Given the description of an element on the screen output the (x, y) to click on. 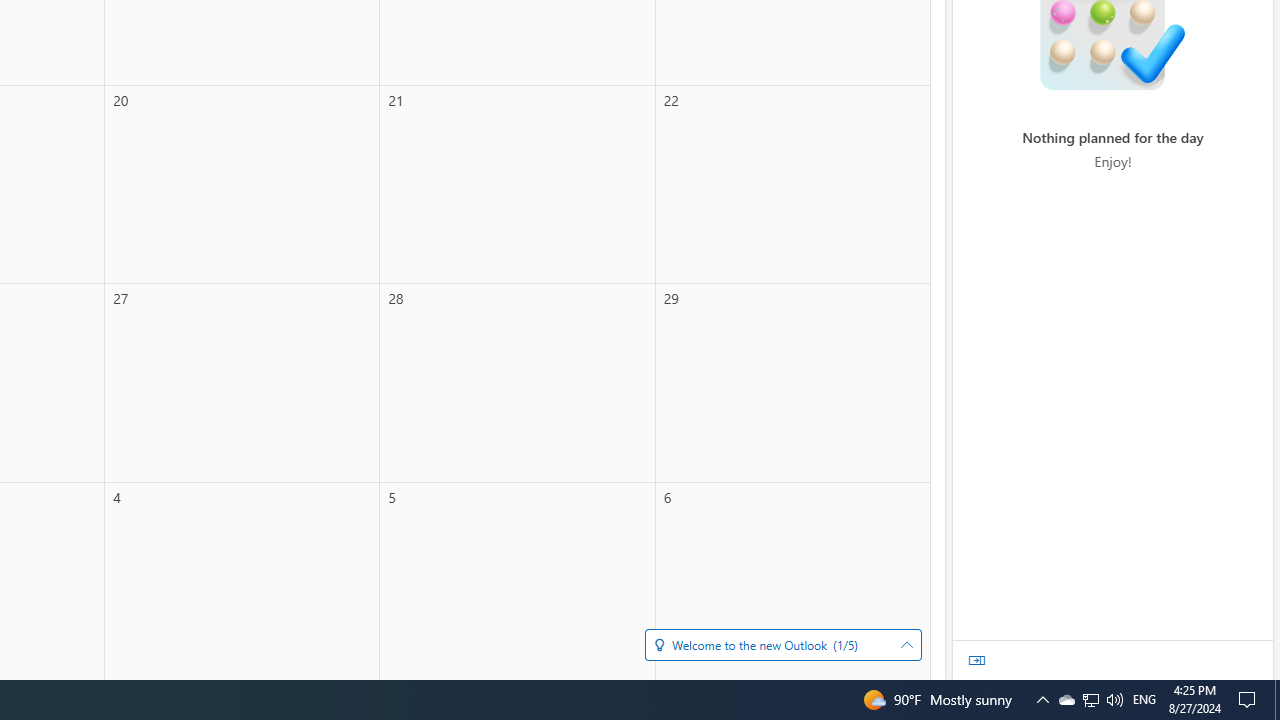
Toggle agenda pane (977, 660)
